Given the description of an element on the screen output the (x, y) to click on. 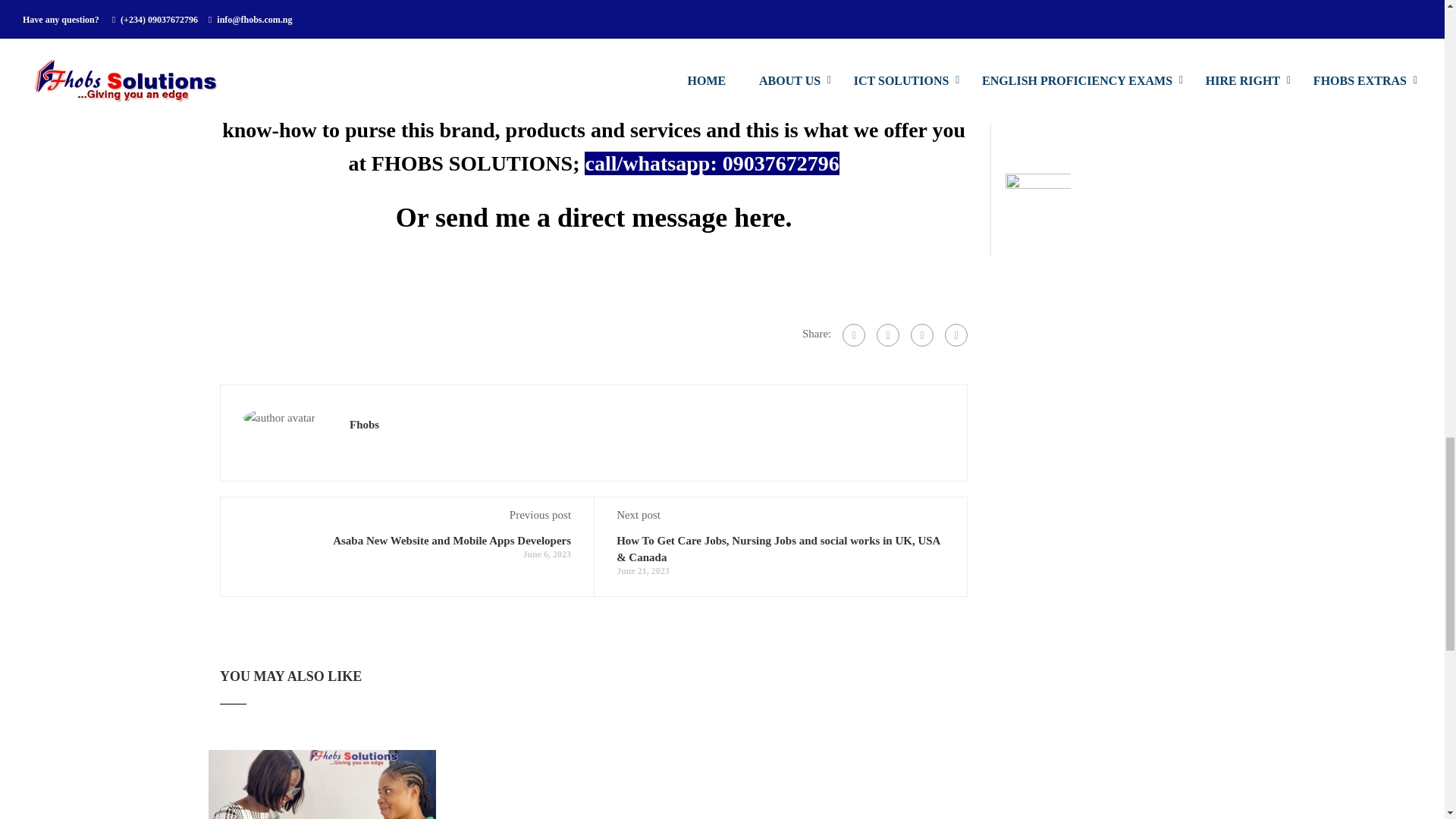
Twitter (922, 334)
Google Plus (887, 334)
the-role-of-digital-marketing-in-hitting-your-sales-taget (321, 784)
Facebook (853, 334)
Pinterest (956, 334)
